Given the description of an element on the screen output the (x, y) to click on. 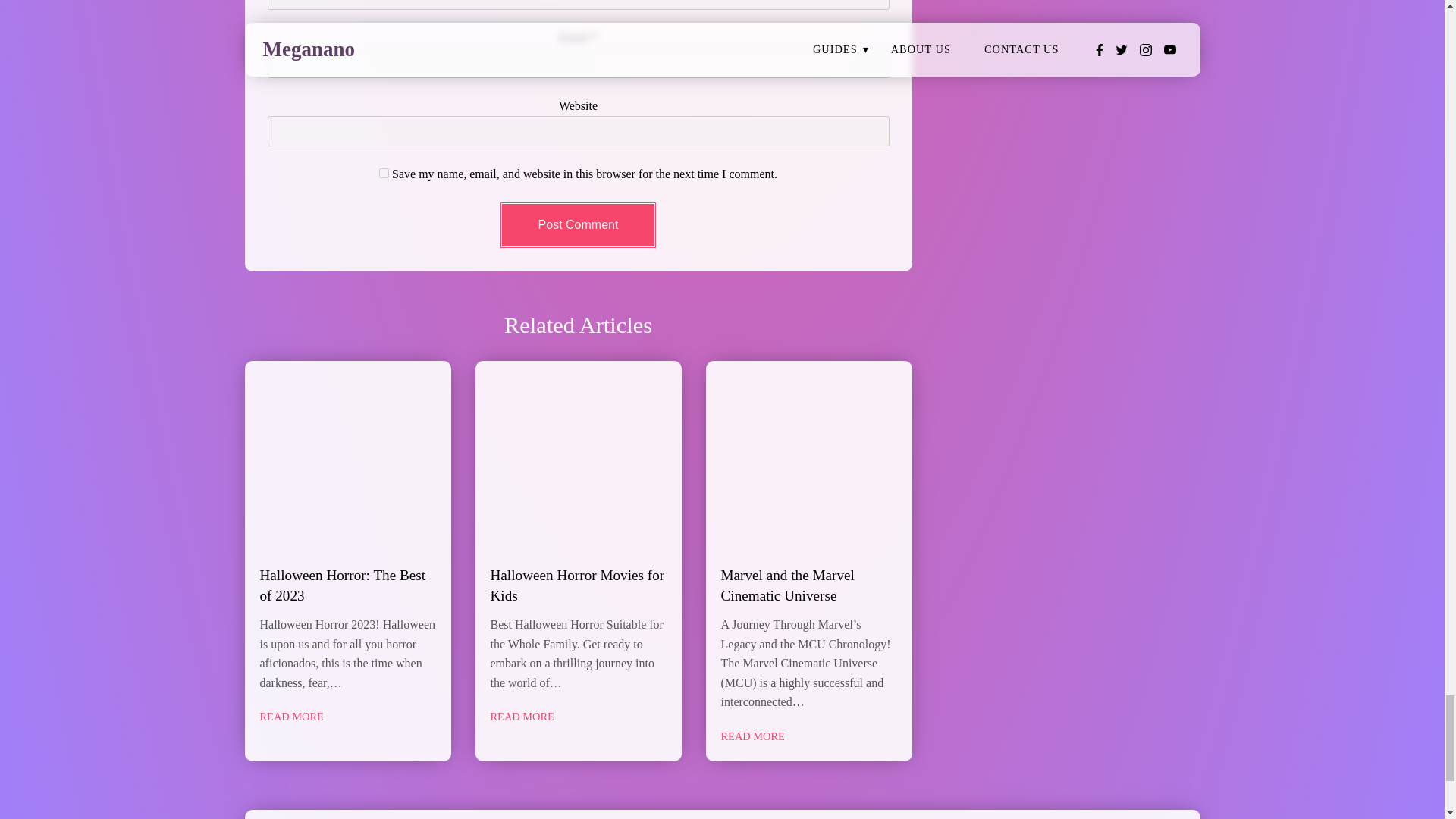
Post Comment (578, 224)
yes (383, 173)
Post Comment (578, 224)
